Given the description of an element on the screen output the (x, y) to click on. 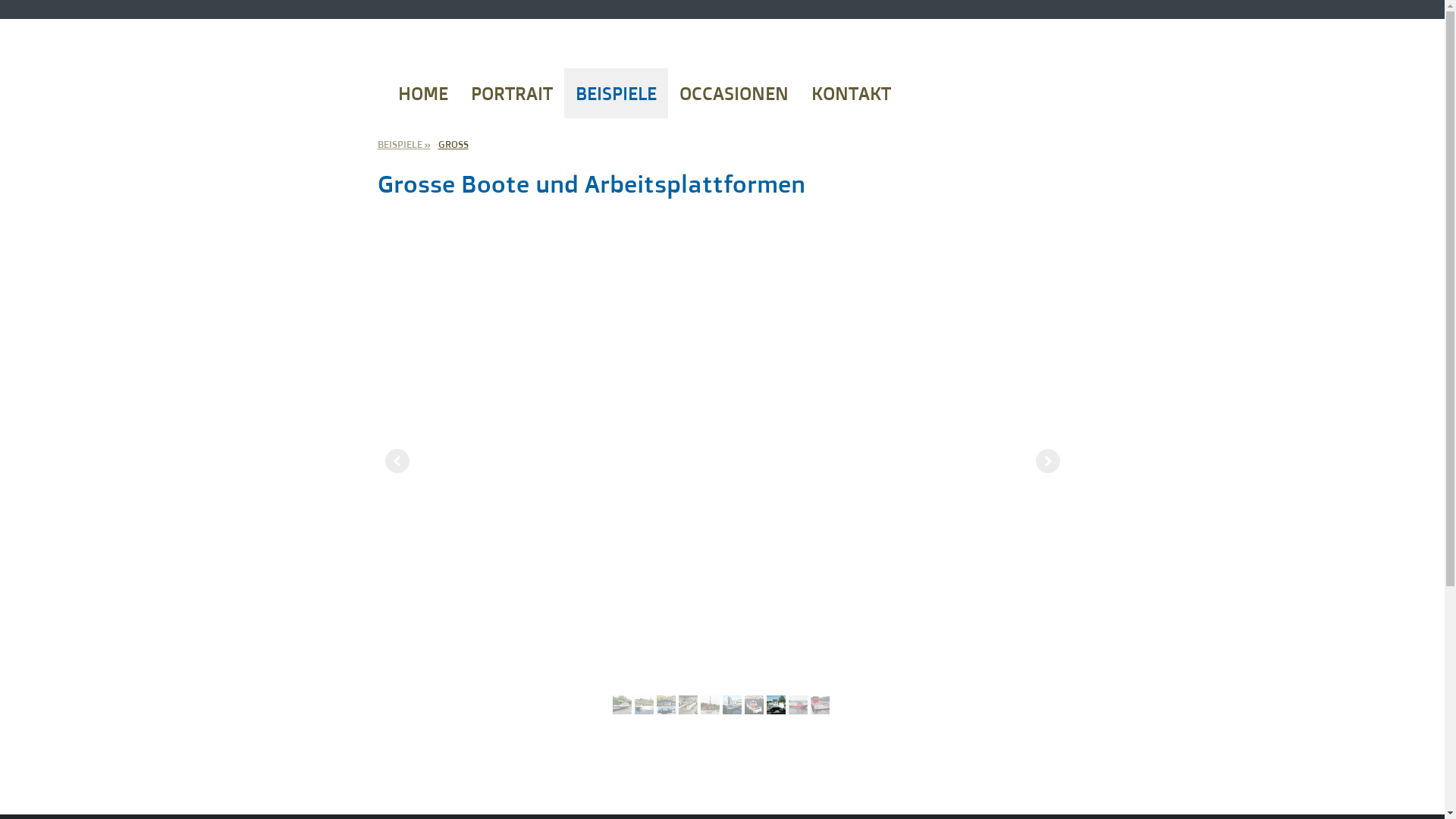
OCCASIONEN Element type: text (734, 93)
GROSS Element type: text (452, 143)
PORTRAIT Element type: text (511, 93)
HOME Element type: text (422, 93)
KONTAKT Element type: text (851, 93)
BEISPIELE Element type: text (616, 93)
BEISPIELE Element type: text (403, 143)
